Given the description of an element on the screen output the (x, y) to click on. 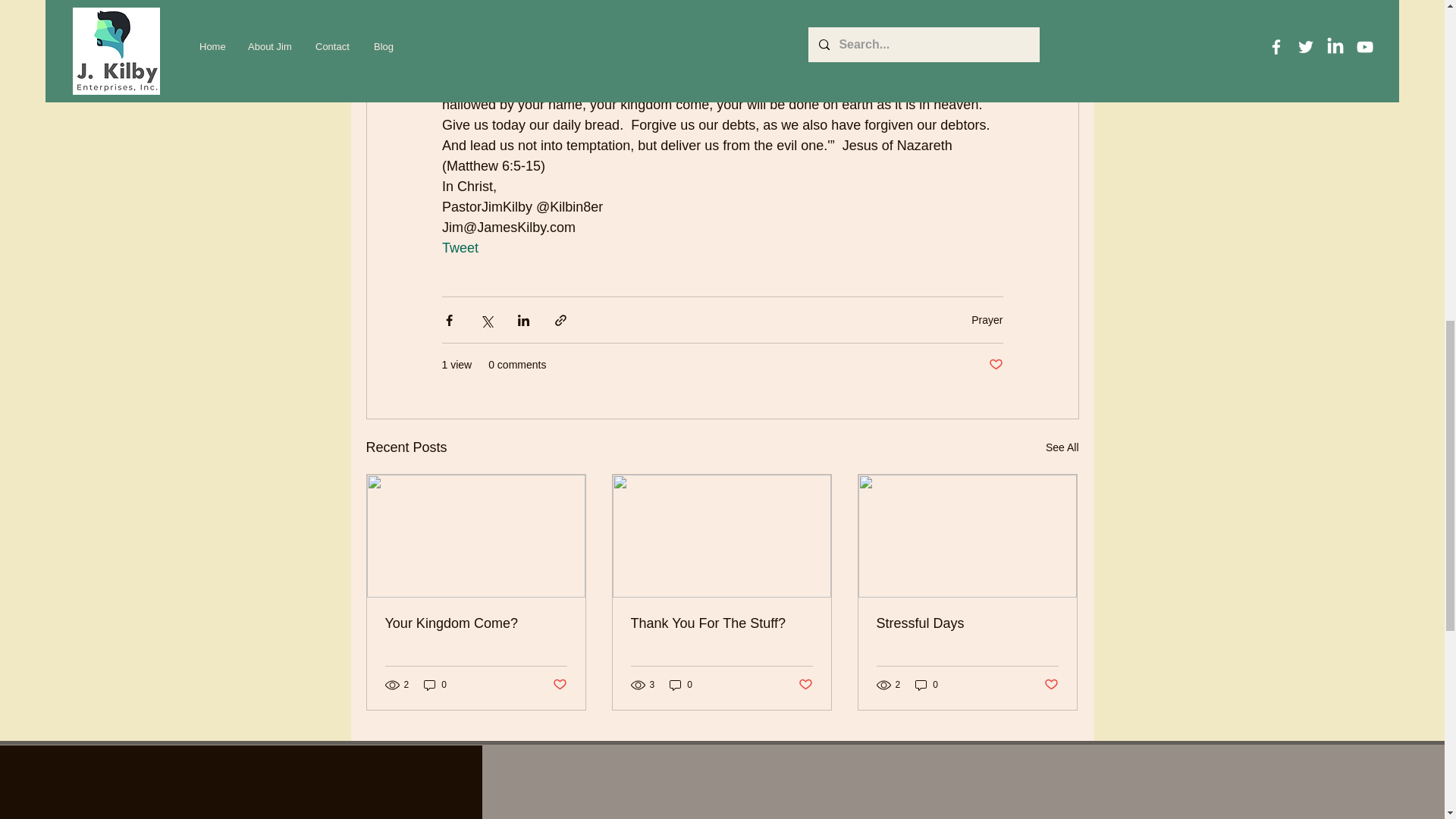
0 (435, 685)
Thank You For The Stuff? (721, 623)
0 (681, 685)
Post not marked as liked (995, 365)
Tweet (459, 247)
Prayer (987, 319)
Your Kingdom Come? (476, 623)
See All (1061, 447)
Post not marked as liked (558, 684)
